Given the description of an element on the screen output the (x, y) to click on. 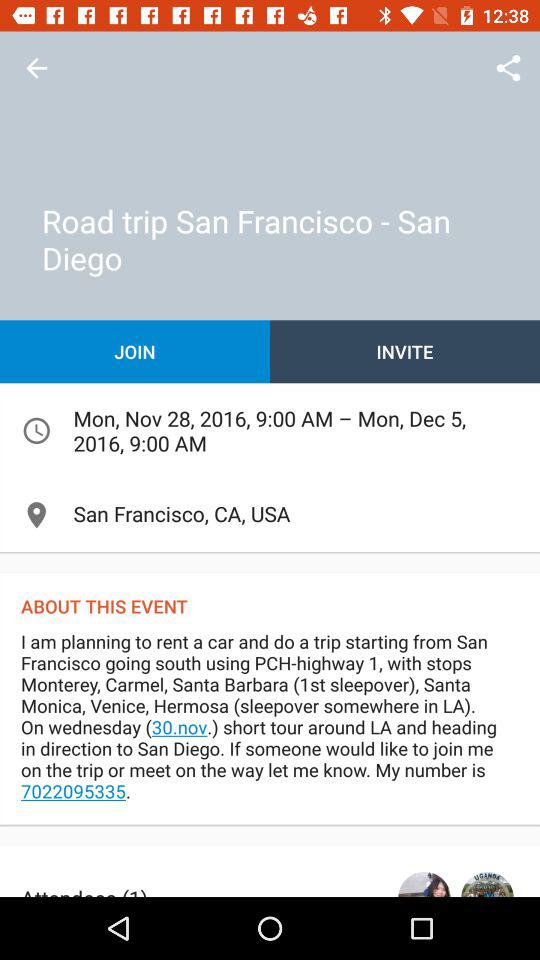
press the item at the top left corner (36, 68)
